Given the description of an element on the screen output the (x, y) to click on. 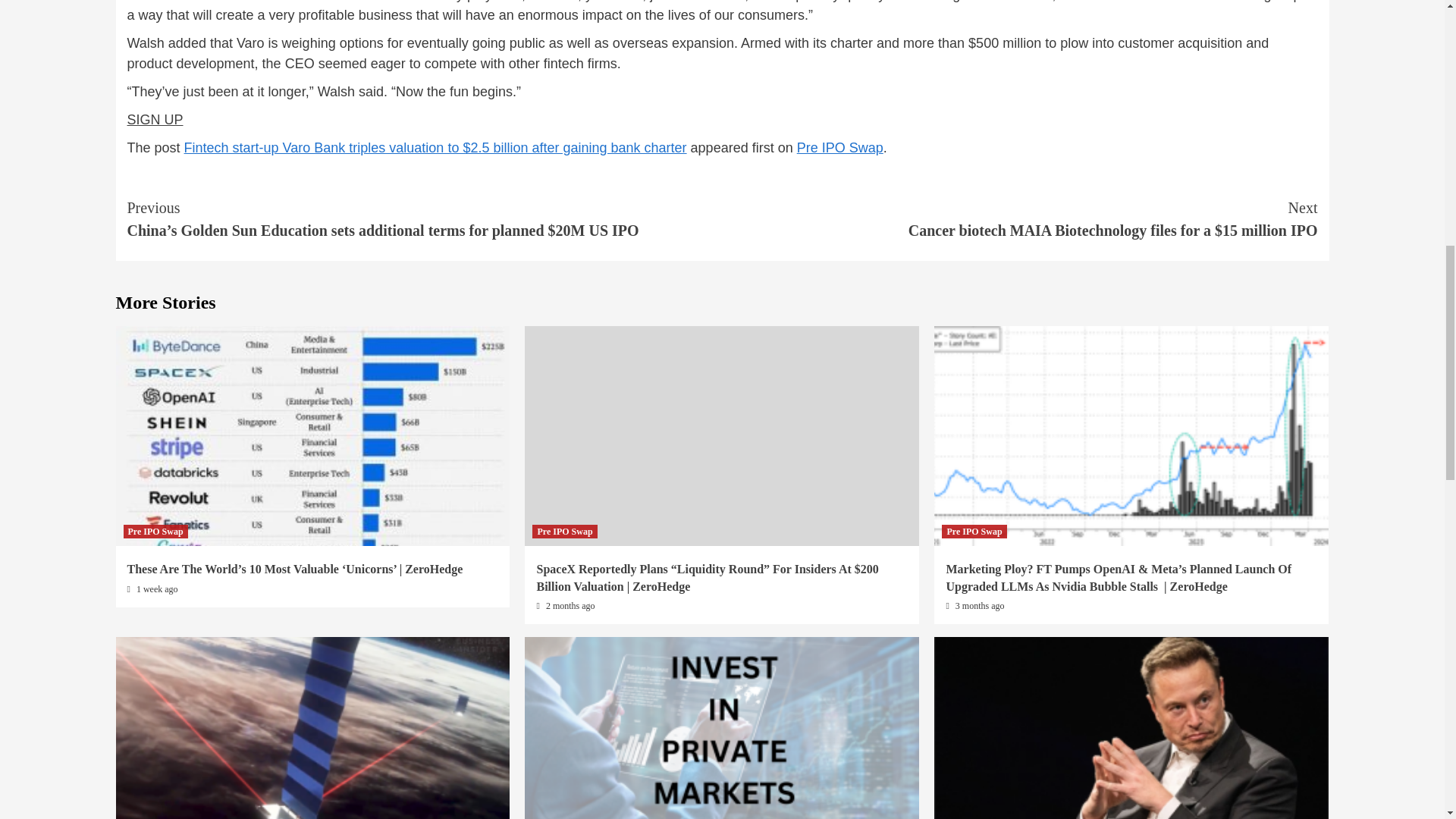
Pre IPO Swap (974, 531)
Pre IPO Swap (154, 531)
Pre IPO Swap (839, 147)
Pre IPO Swap (564, 531)
SIGN UP (155, 119)
